Given the description of an element on the screen output the (x, y) to click on. 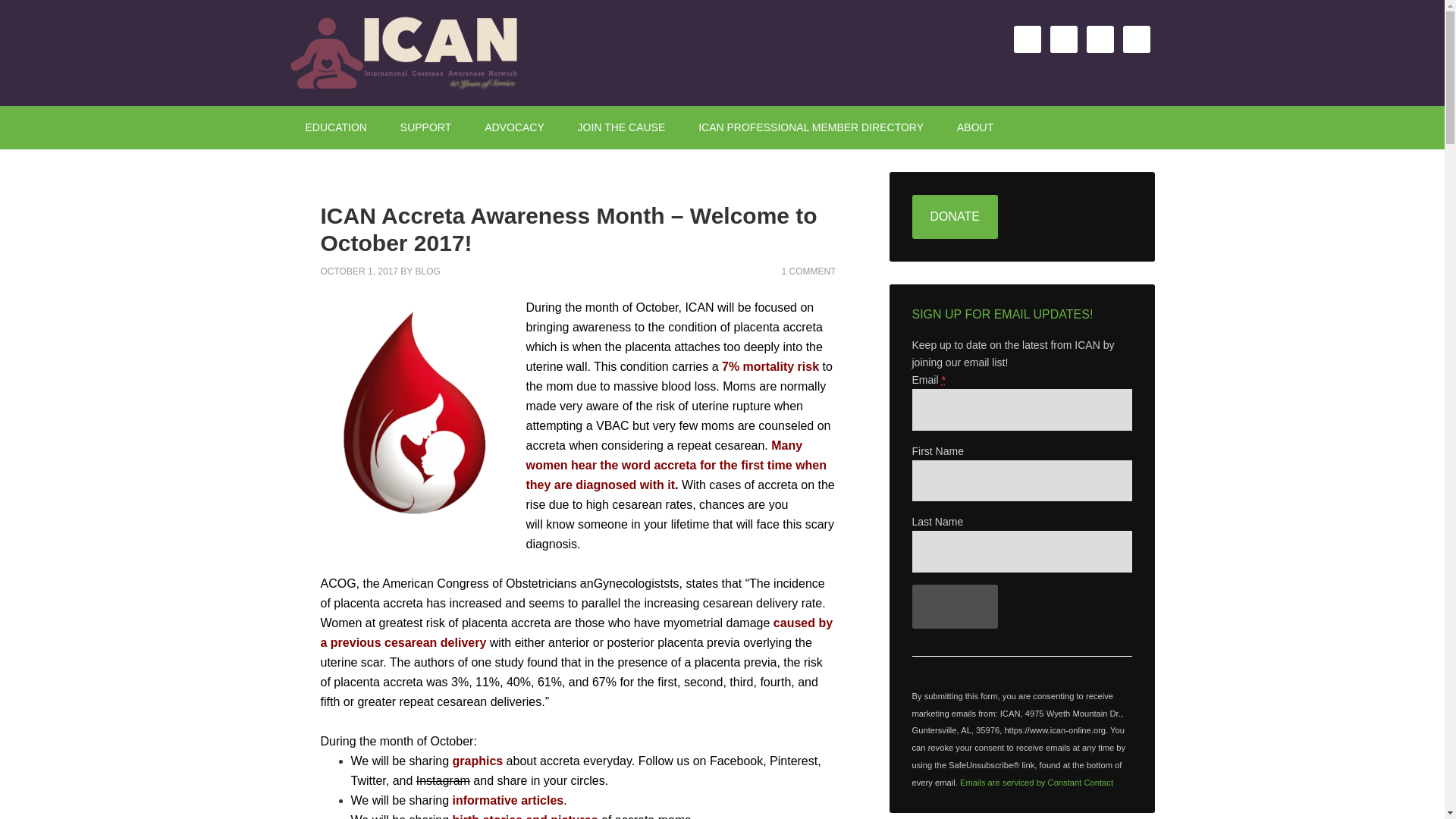
Sign up (954, 606)
JOIN THE CAUSE (621, 127)
SUPPORT (425, 127)
ADVOCACY (513, 127)
EDUCATION (335, 127)
INTERNATIONAL CESAREAN AWARENESS NETWORK (418, 52)
